Given the description of an element on the screen output the (x, y) to click on. 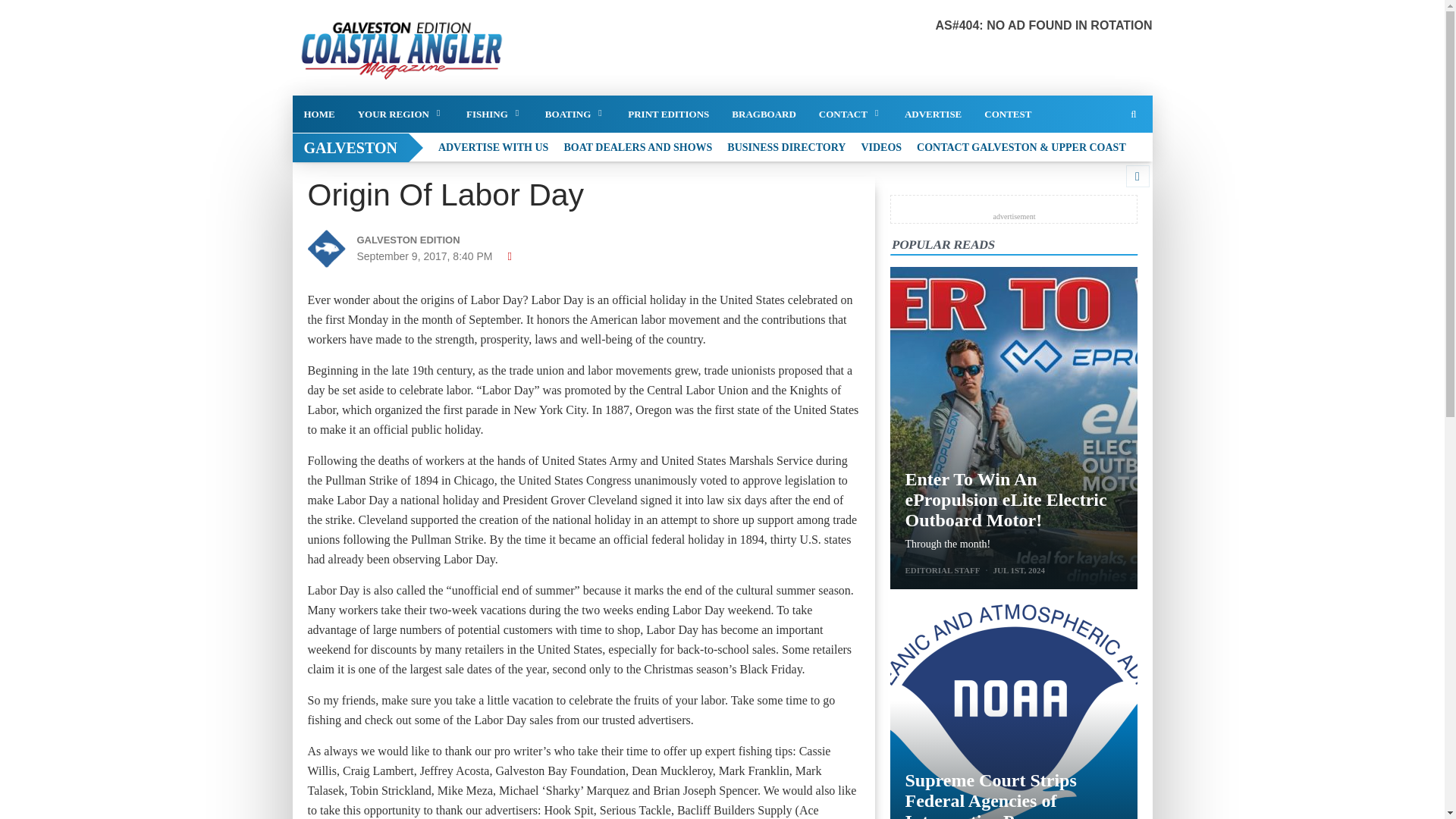
View all posts by Editorial Staff (942, 570)
View all posts by Galveston Edition (442, 240)
